Given the description of an element on the screen output the (x, y) to click on. 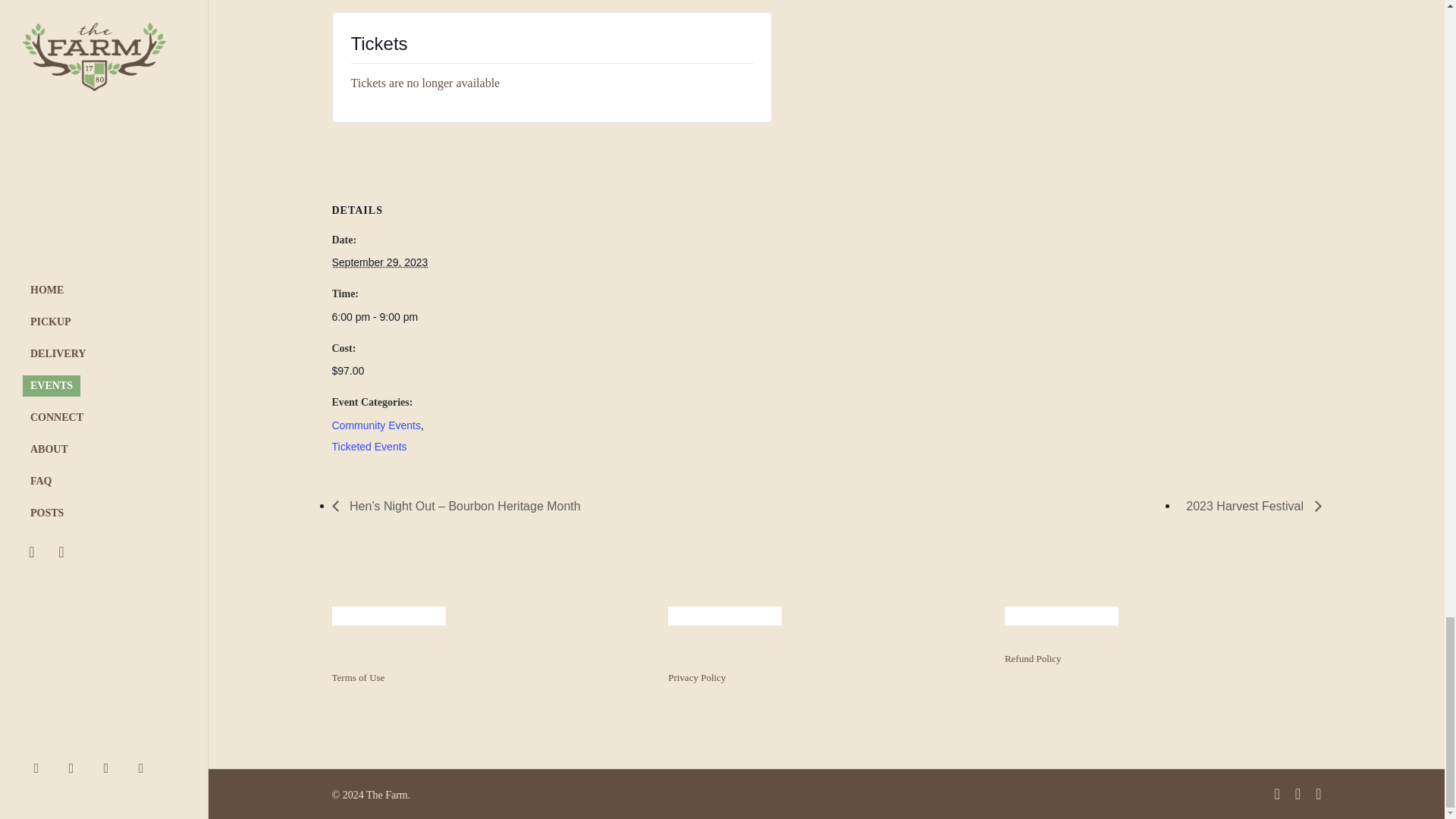
2023-09-29 (379, 262)
2023-09-29 (395, 317)
Community Events (375, 425)
Ticketed Events (369, 446)
2023 Harvest Festival (1248, 505)
